Given the description of an element on the screen output the (x, y) to click on. 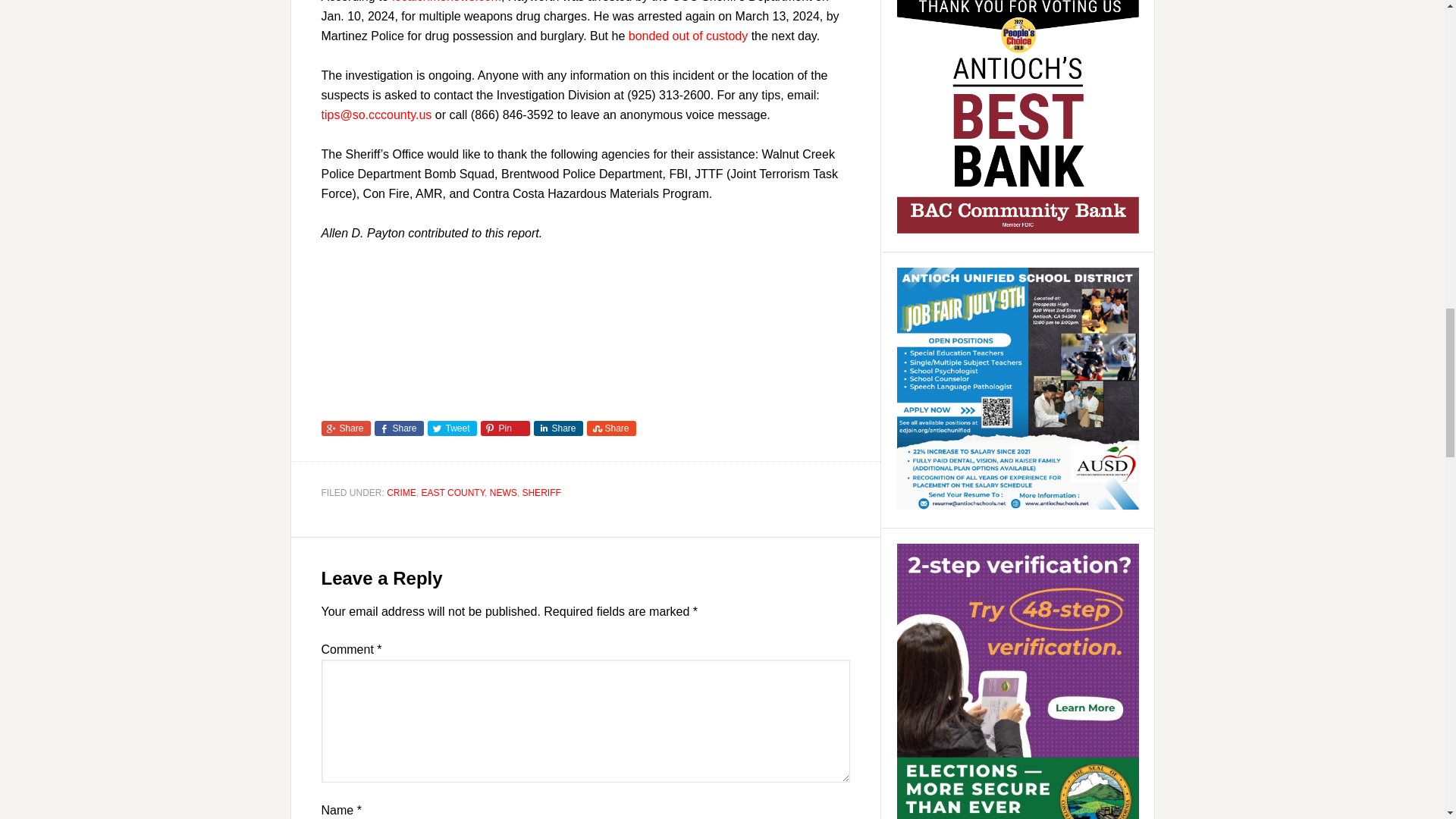
localcrimenews.com (445, 1)
Share (346, 427)
Share (558, 427)
Tweet (452, 427)
Pin (504, 427)
bonded out of custody (688, 35)
Share (398, 427)
